Given the description of an element on the screen output the (x, y) to click on. 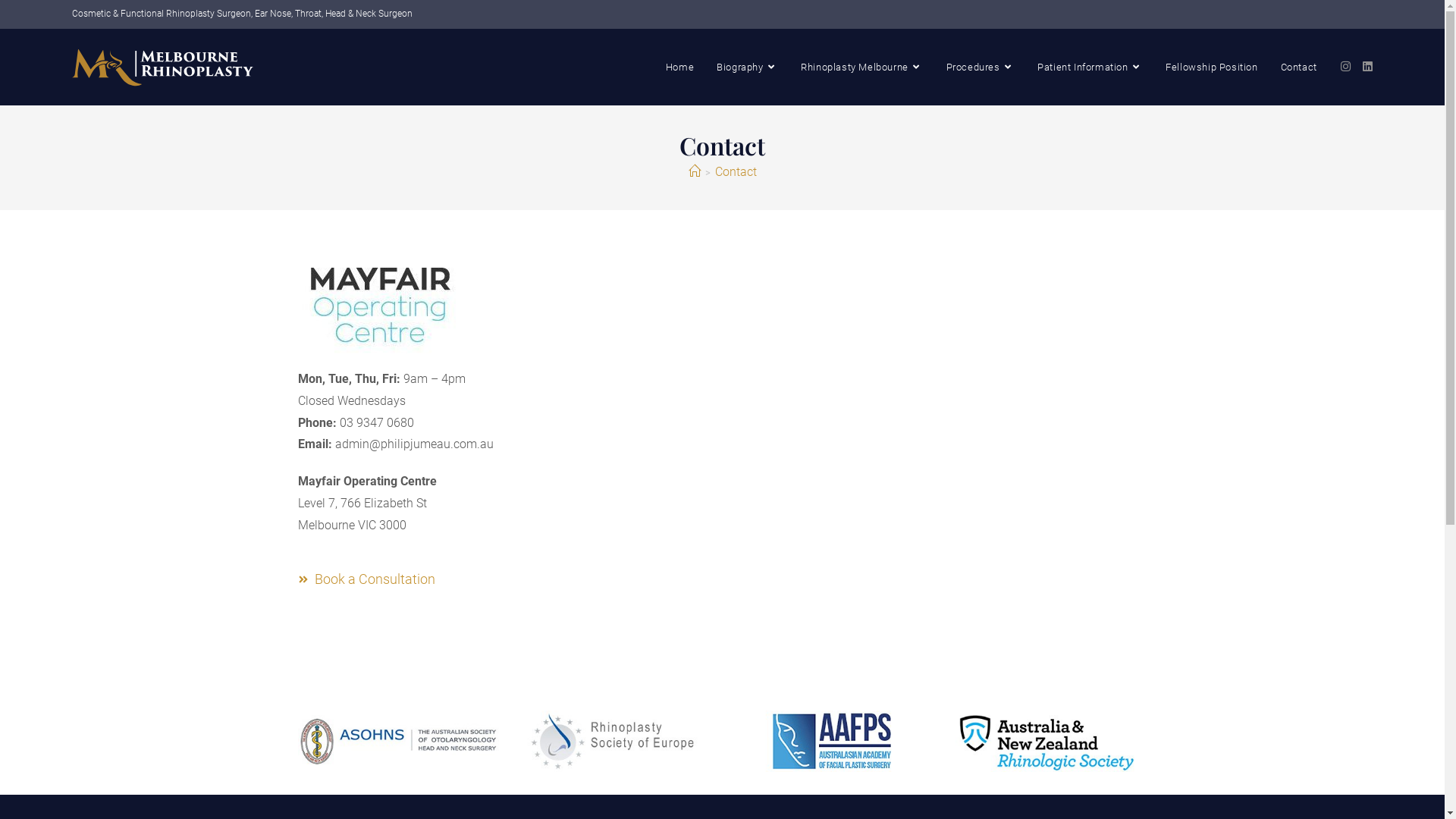
Biography Element type: text (747, 67)
Patient Information Element type: text (1090, 67)
Home Element type: text (679, 67)
Book a Consultation Element type: text (418, 579)
Contact Element type: text (735, 171)
Contact Element type: text (1298, 67)
Procedures Element type: text (980, 67)
Fellowship Position Element type: text (1211, 67)
Rhinoplasty Melbourne Element type: text (861, 67)
